Given the description of an element on the screen output the (x, y) to click on. 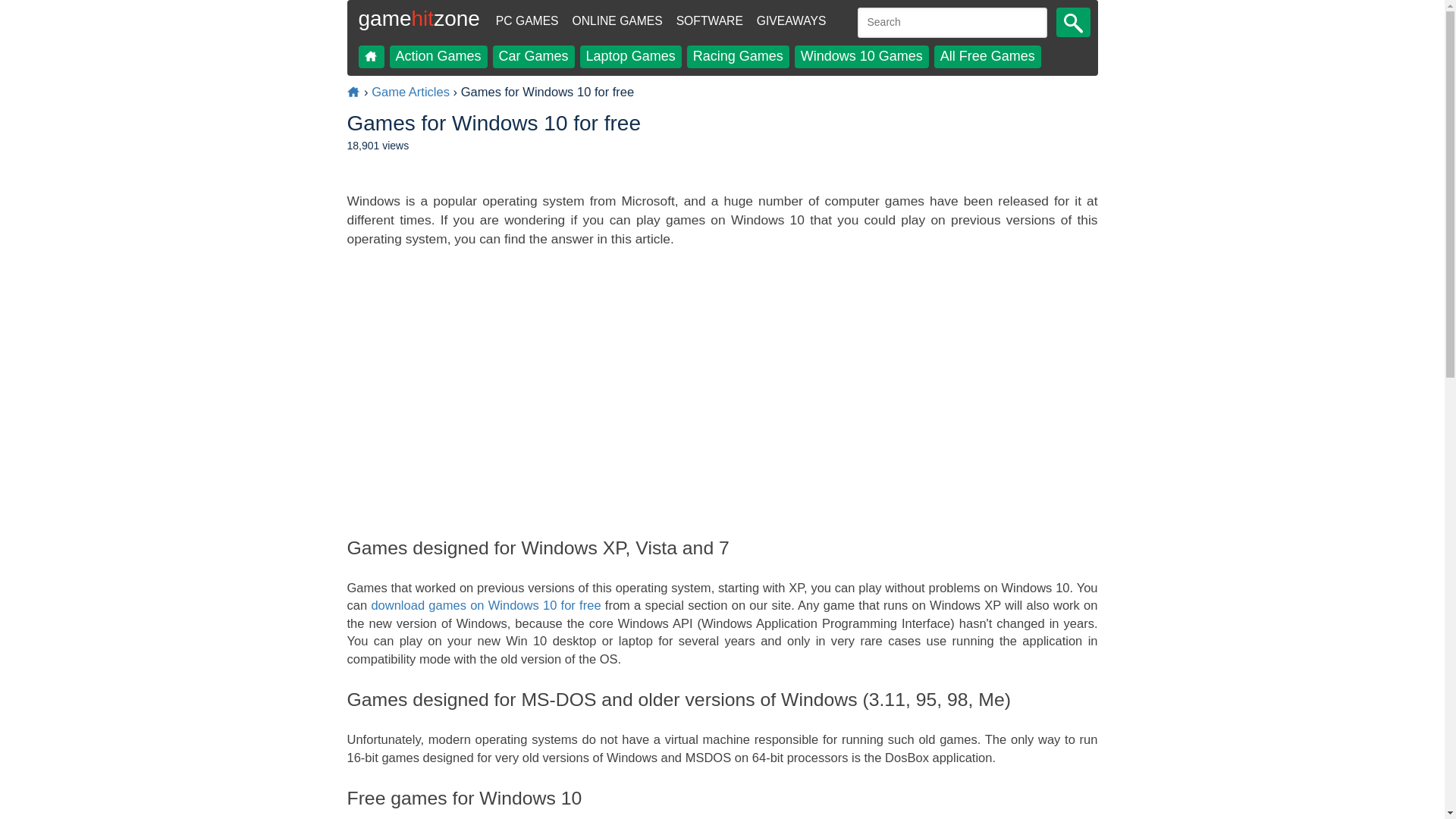
Action Games (438, 56)
gamehitzone (419, 24)
Game Articles (410, 92)
ONLINE GAMES (616, 21)
Laptop Games (630, 56)
SOFTWARE (709, 21)
download games on Windows 10 for free (485, 605)
PC GAMES (527, 21)
Car Games (534, 56)
